Given the description of an element on the screen output the (x, y) to click on. 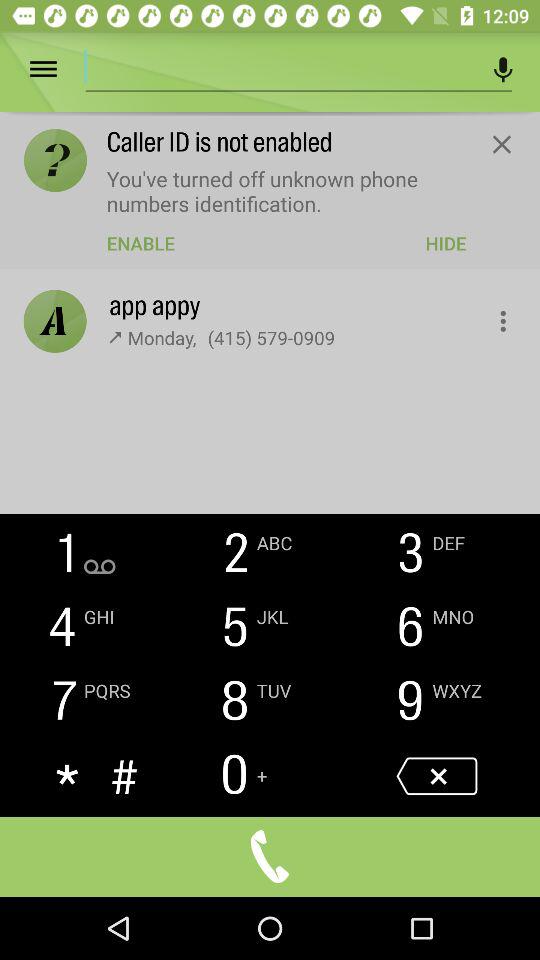
phone call (270, 856)
